Given the description of an element on the screen output the (x, y) to click on. 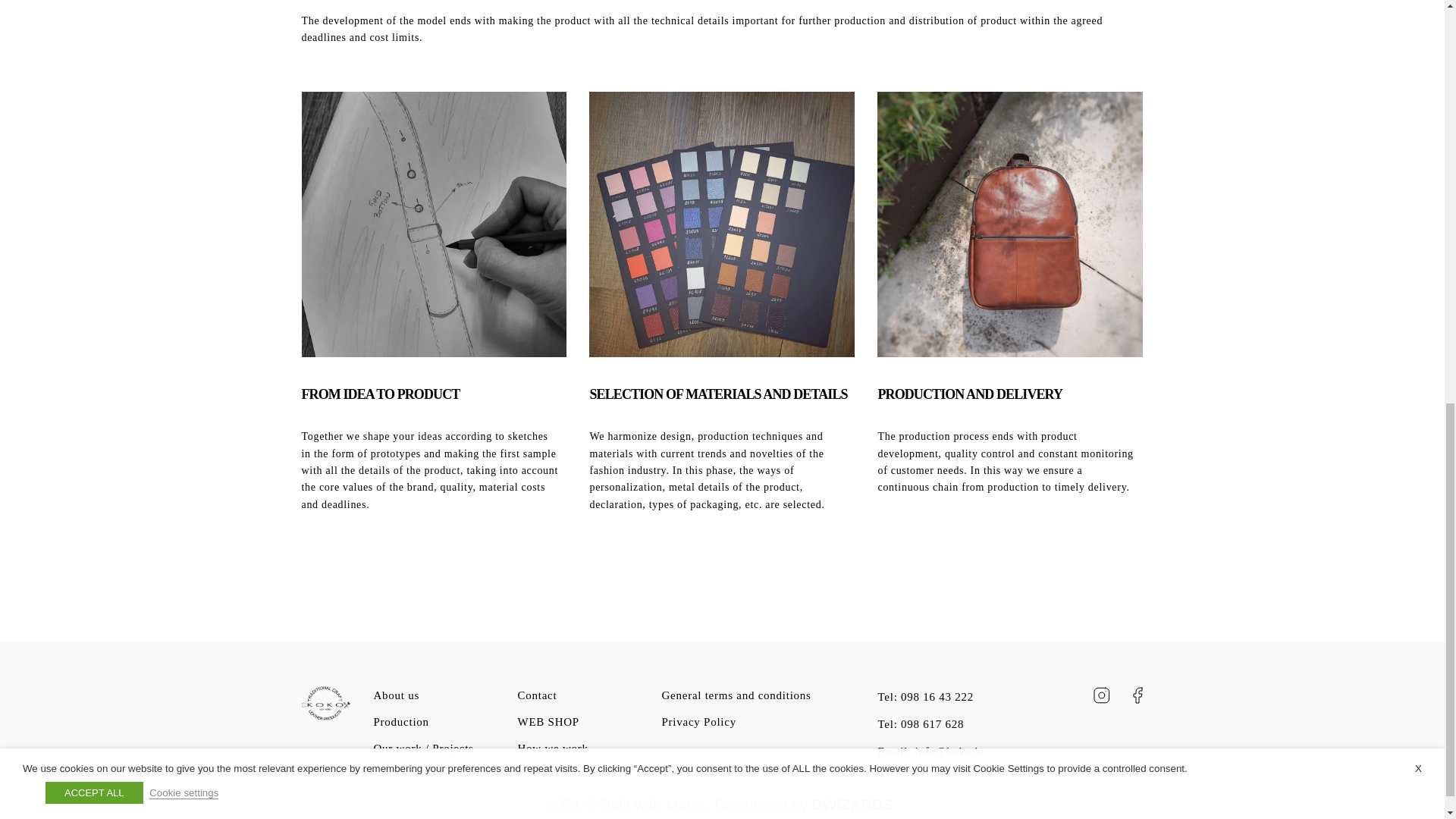
PRODUCTION AND DELIVERY (969, 394)
Tel: 098 16 43 222 (925, 696)
FROM IDEA TO PRODUCT (380, 394)
Production (400, 721)
WEB SHOP (547, 721)
General terms and conditions (735, 695)
How we work (552, 748)
Tel: 098 617 628 (920, 724)
Contact (536, 695)
DWIZARDS (851, 804)
Privacy Policy (698, 721)
SELECTION OF MATERIALS AND DETAILS (718, 394)
About us (395, 695)
